Given the description of an element on the screen output the (x, y) to click on. 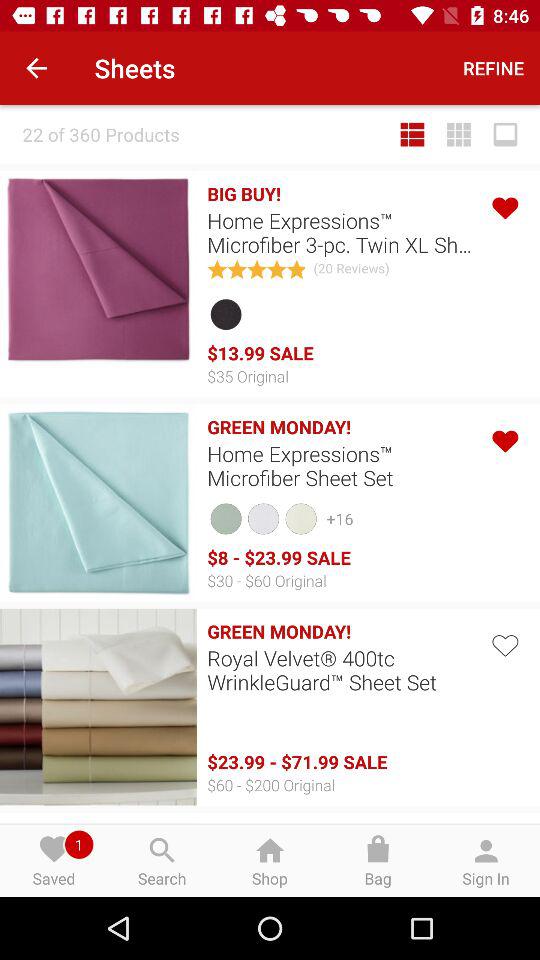
go to favorite (504, 205)
